Given the description of an element on the screen output the (x, y) to click on. 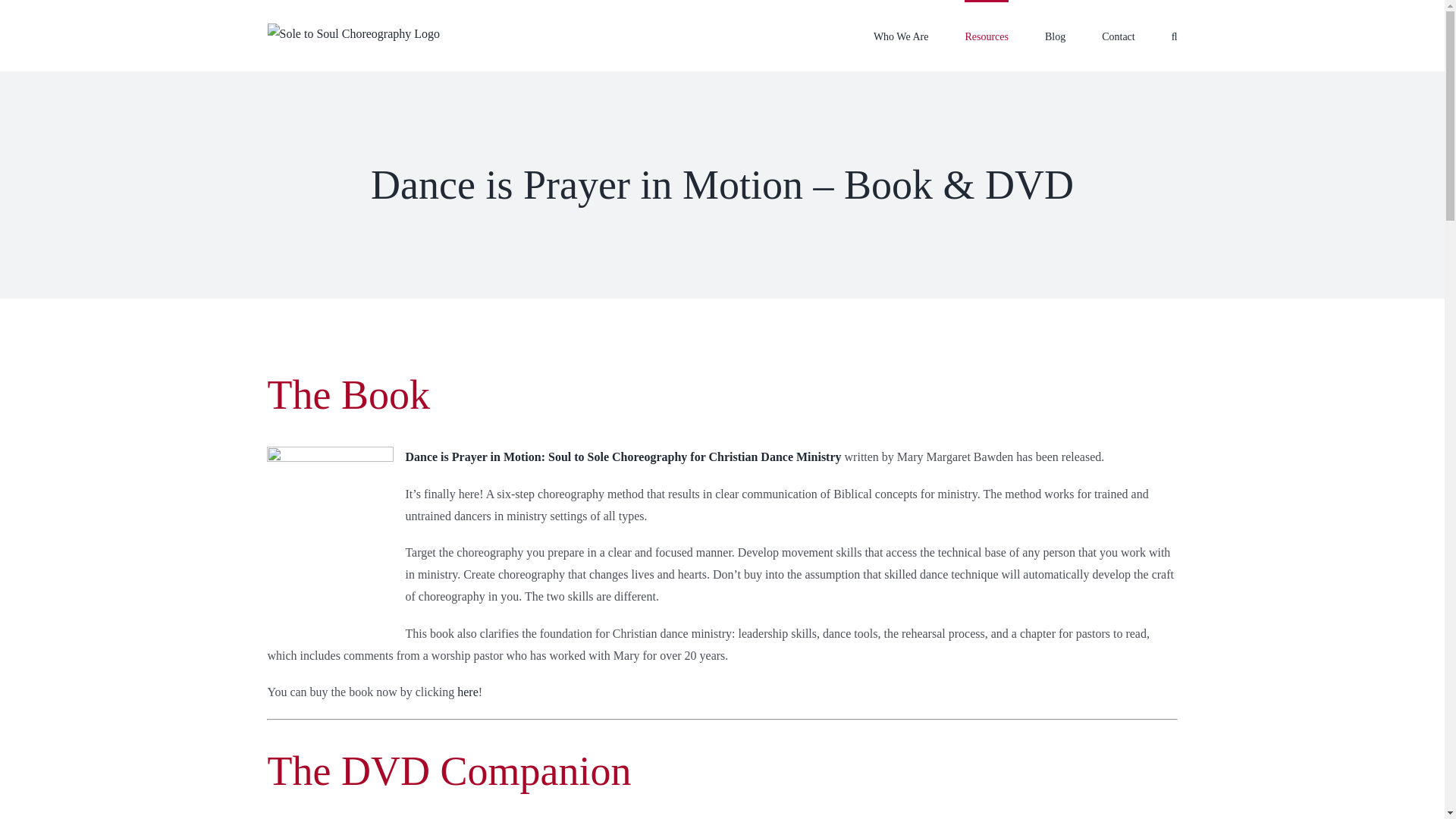
here (468, 691)
